Given the description of an element on the screen output the (x, y) to click on. 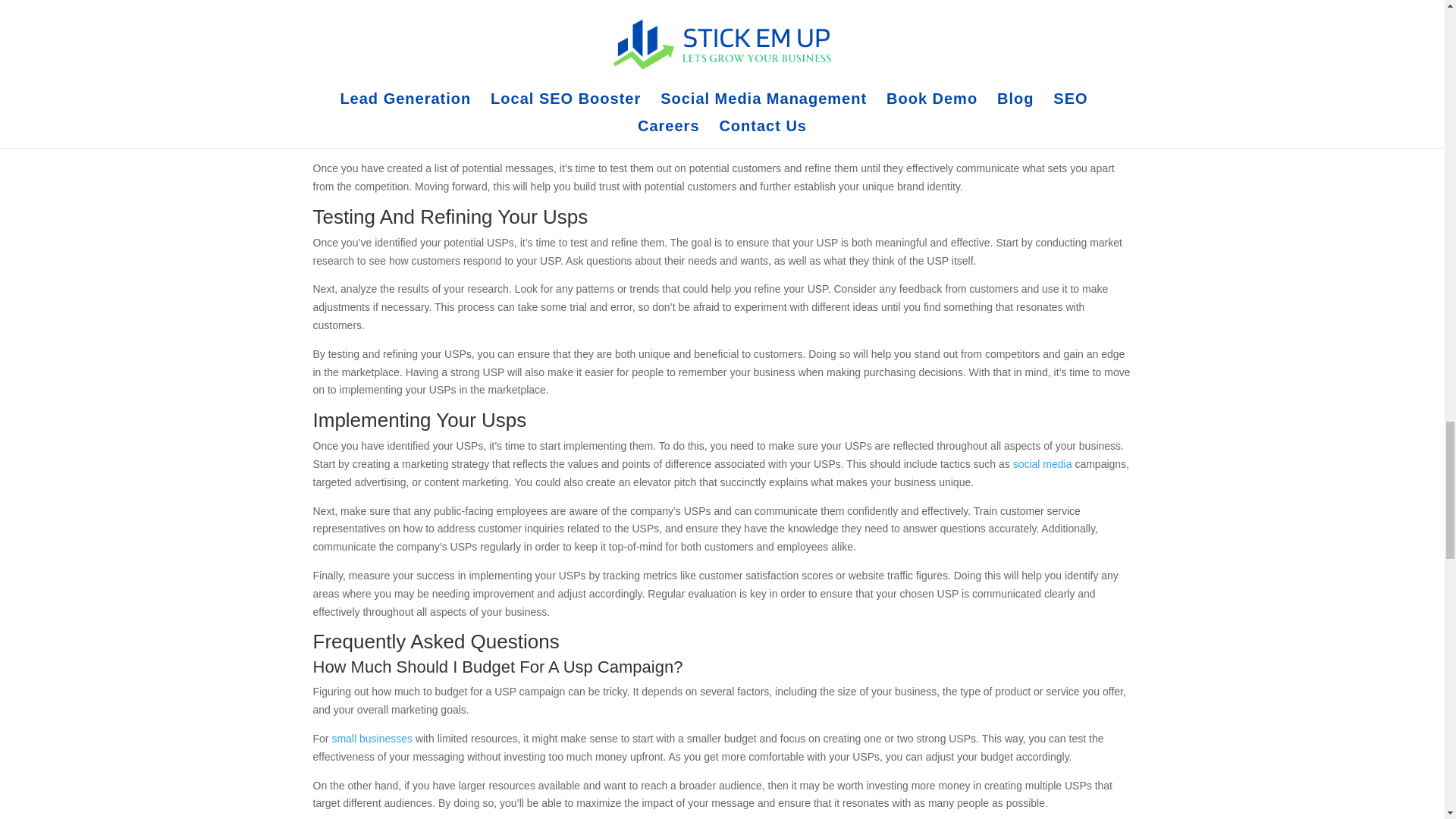
small businesses (371, 738)
social media (1042, 463)
